Given the description of an element on the screen output the (x, y) to click on. 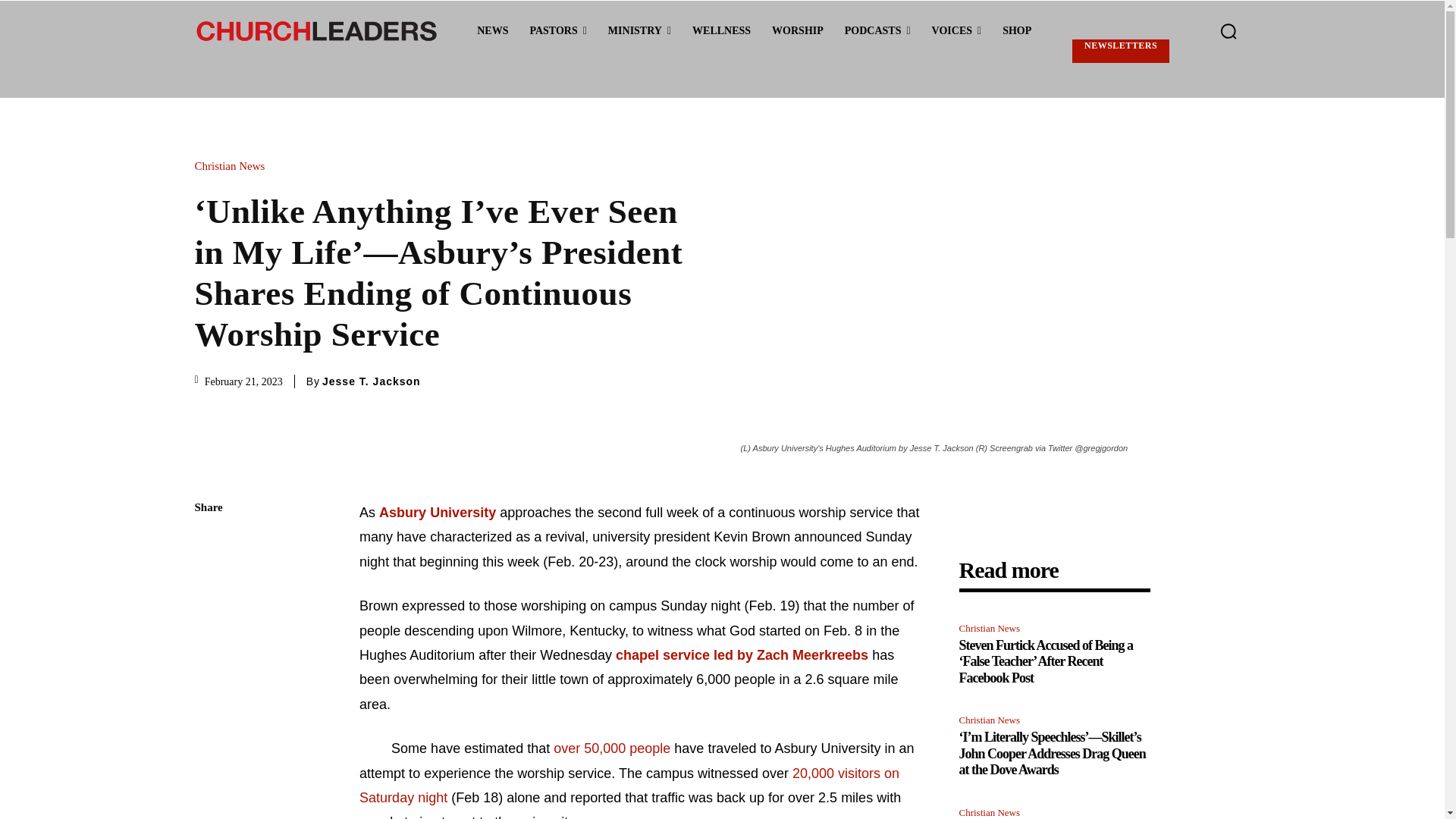
WORSHIP (797, 30)
WELLNESS (721, 30)
MINISTRY (638, 30)
PODCASTS (877, 30)
PASTORS (557, 30)
Newsletters (1120, 51)
